Given the description of an element on the screen output the (x, y) to click on. 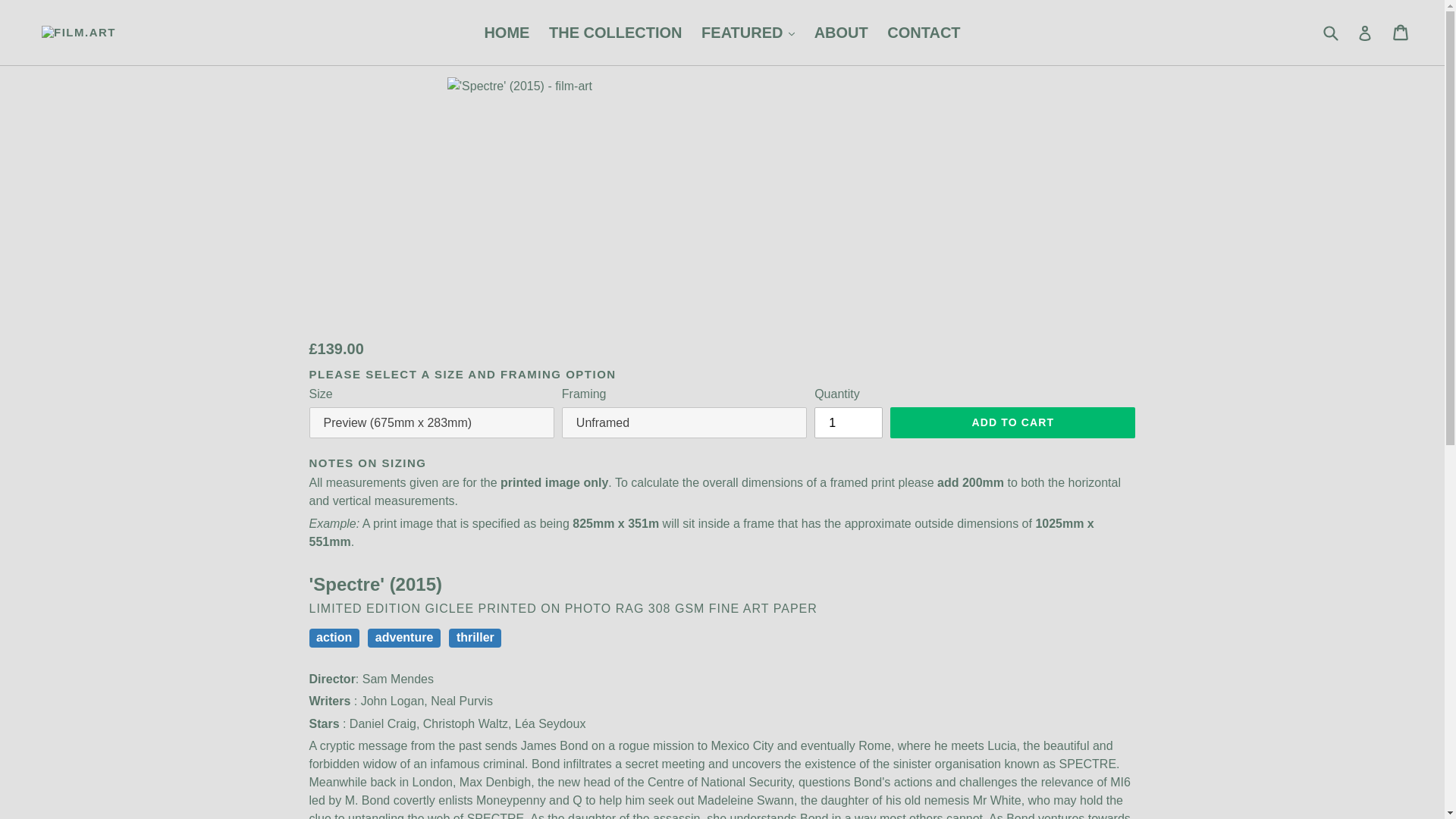
THE COLLECTION (615, 31)
ABOUT (841, 31)
1 (847, 422)
HOME (506, 31)
CONTACT (923, 31)
